Given the description of an element on the screen output the (x, y) to click on. 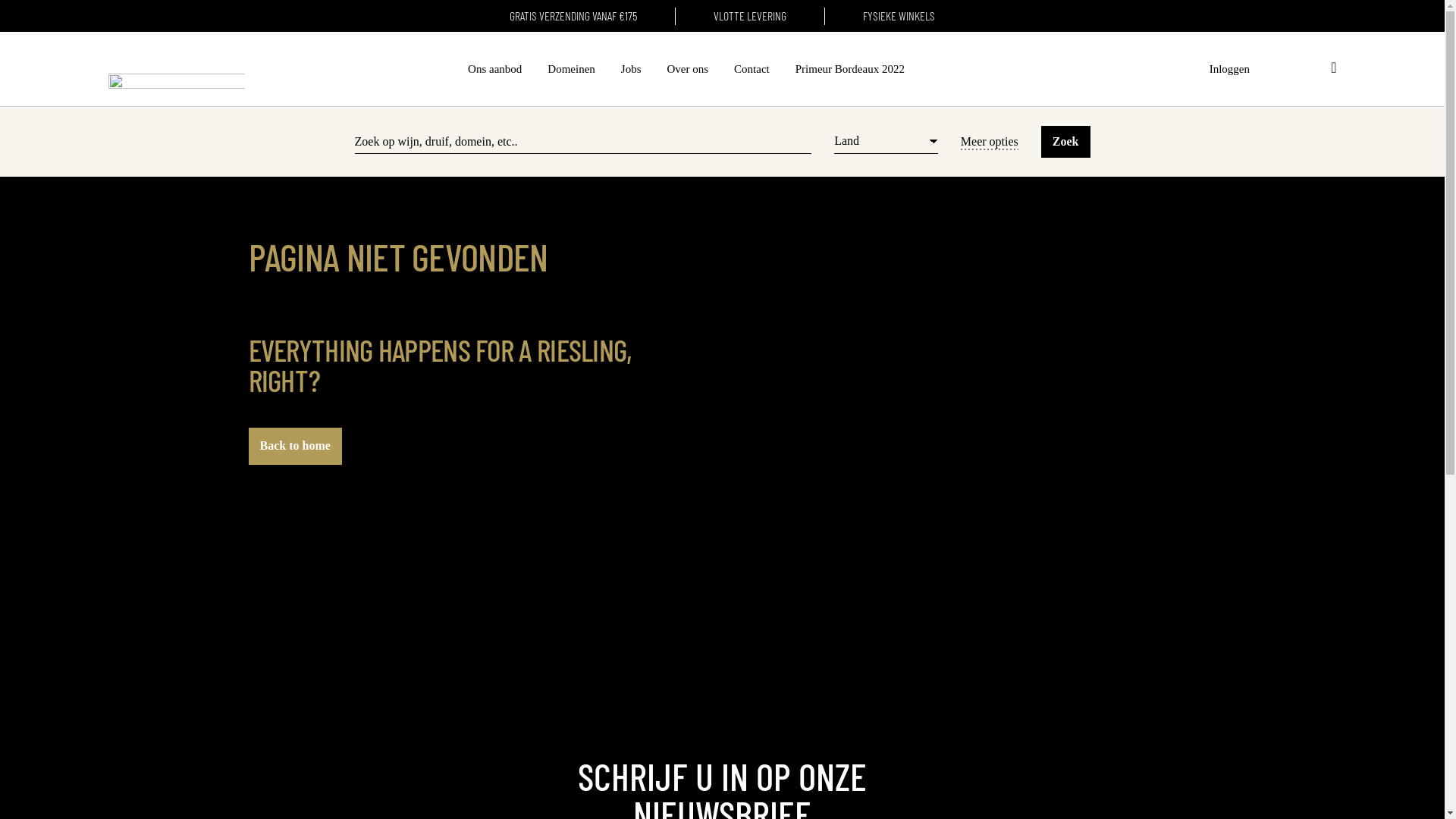
Inloggen Element type: text (1229, 68)
Over ons Element type: text (688, 68)
Primeur Bordeaux 2022 Element type: text (849, 68)
Winkelwagen Element type: text (1333, 68)
Back to home Element type: text (295, 445)
Domeinen Element type: text (570, 68)
Meer opties Element type: text (989, 141)
Jobs Element type: text (630, 68)
Zoek Element type: text (1065, 141)
Ons aanbod Element type: text (494, 68)
Contact Element type: text (751, 68)
